Given the description of an element on the screen output the (x, y) to click on. 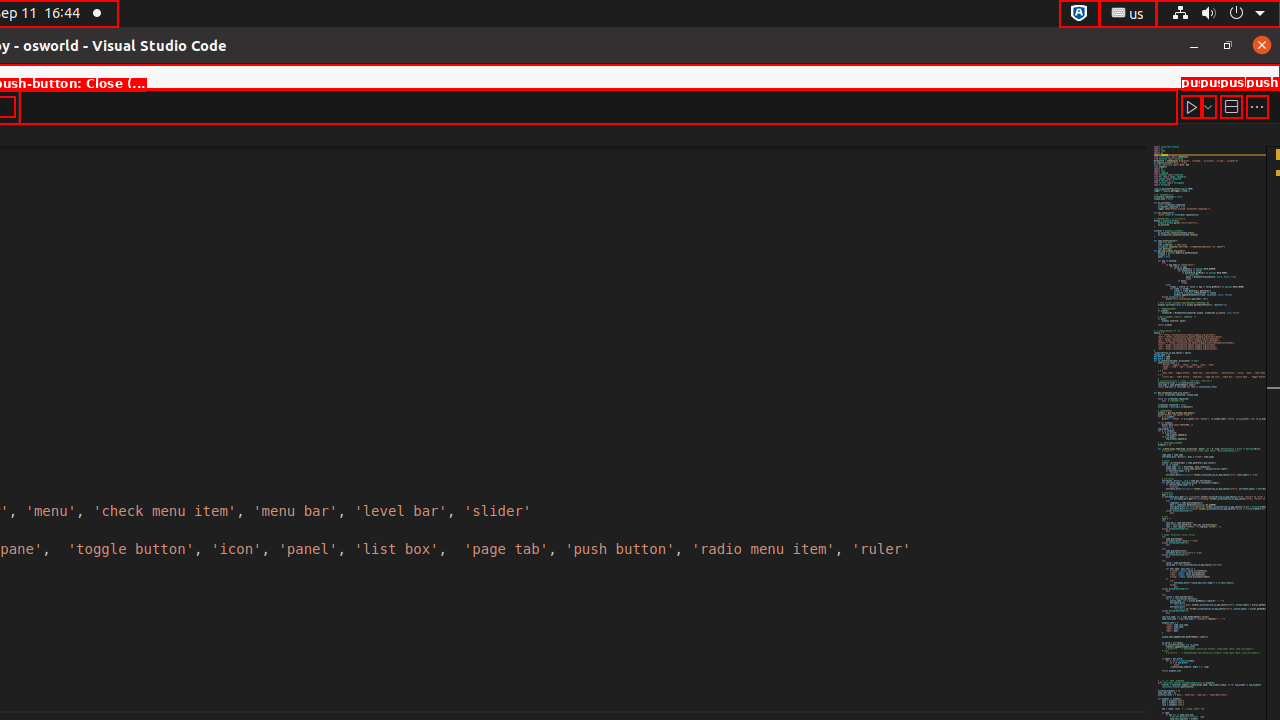
Run Python File Element type: push-button (1192, 106)
Run or Debug... Element type: push-button (1208, 106)
:1.21/StatusNotifierItem Element type: menu (1127, 13)
